Given the description of an element on the screen output the (x, y) to click on. 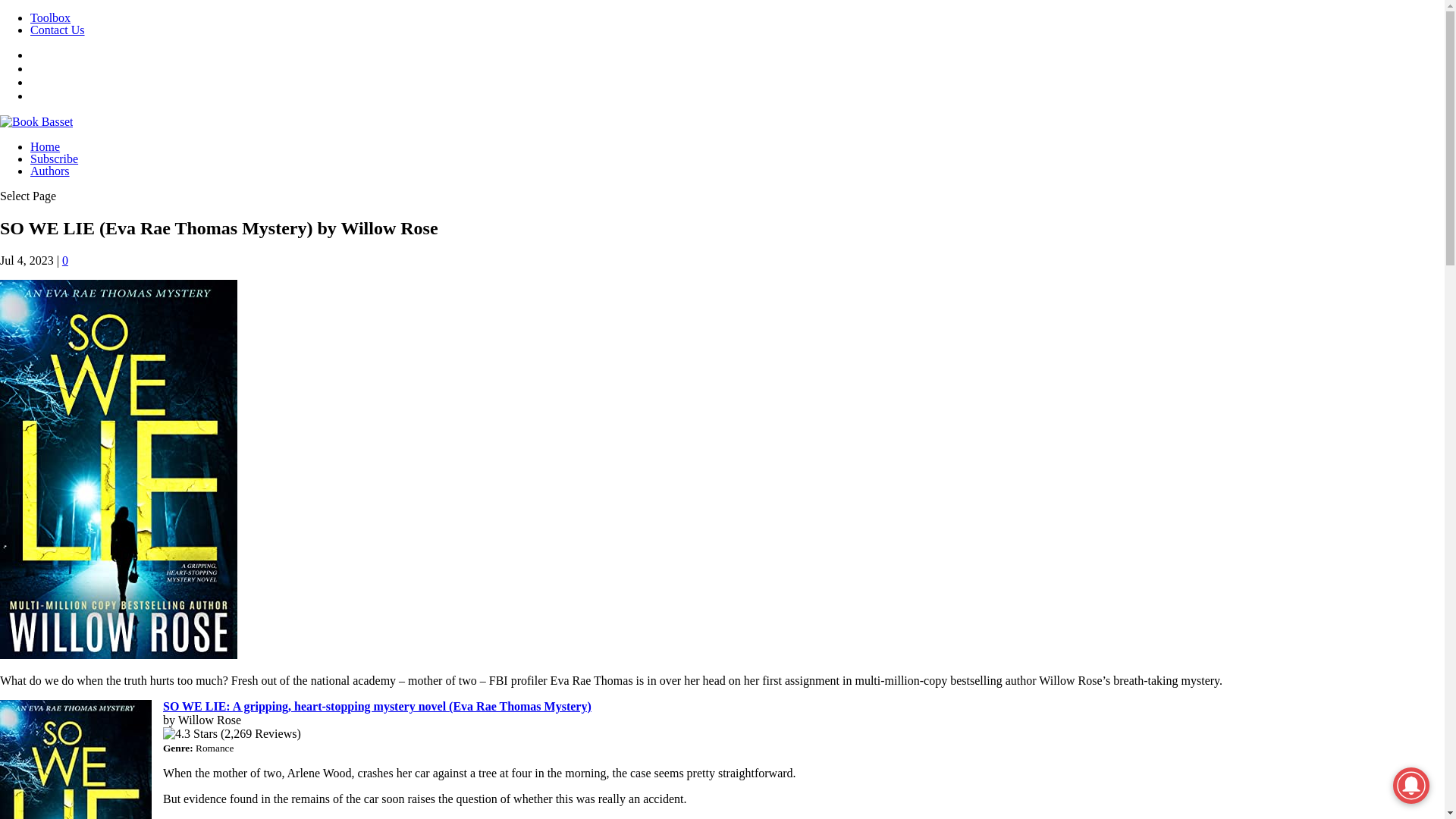
0 (65, 259)
Contact Us (57, 29)
Home (44, 146)
Toolbox (49, 17)
Authors (49, 170)
4.3 Stars (189, 734)
Subscribe (54, 158)
